Given the description of an element on the screen output the (x, y) to click on. 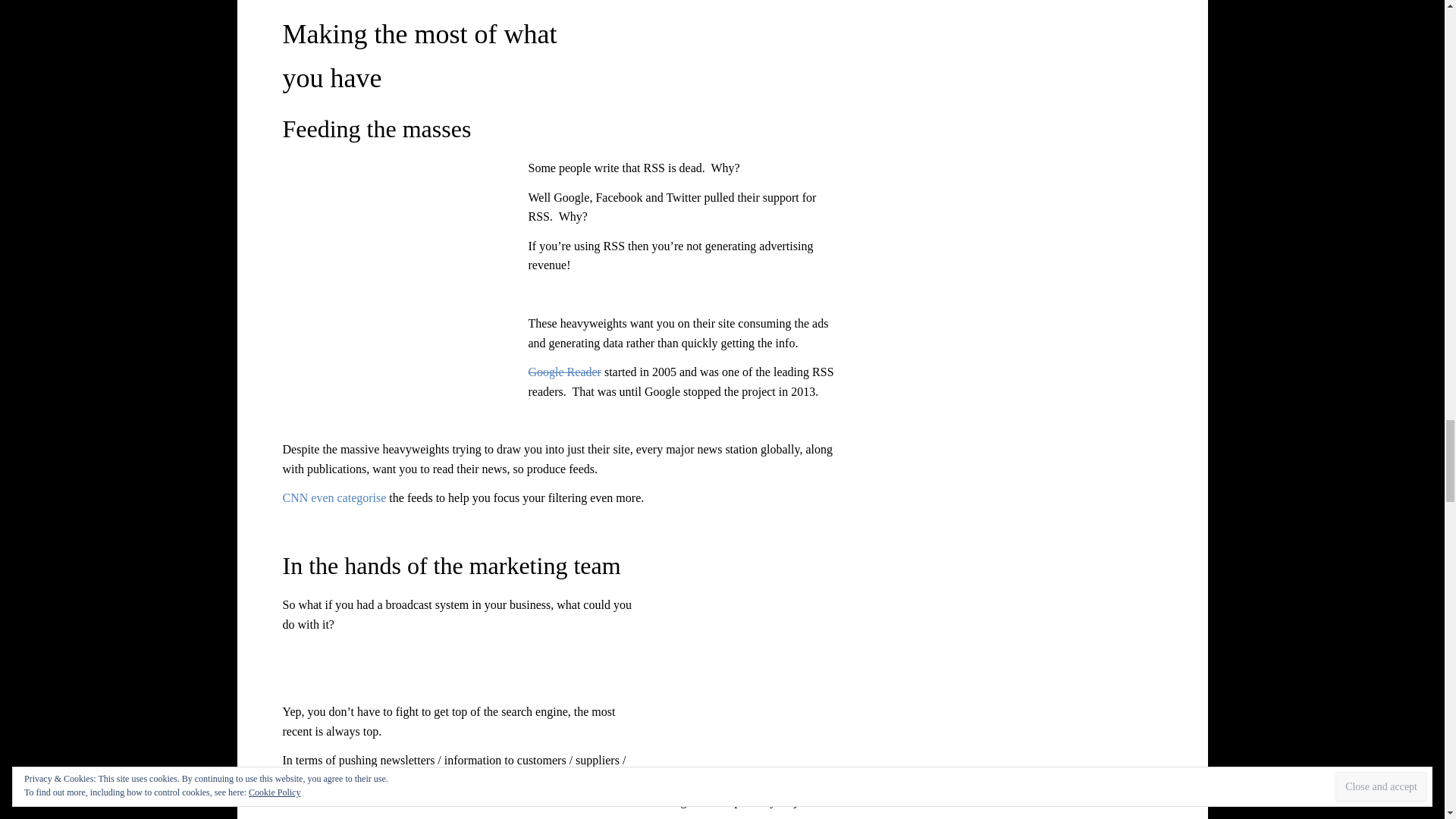
Google Reader (563, 371)
CNN even categorise (333, 497)
